Given the description of an element on the screen output the (x, y) to click on. 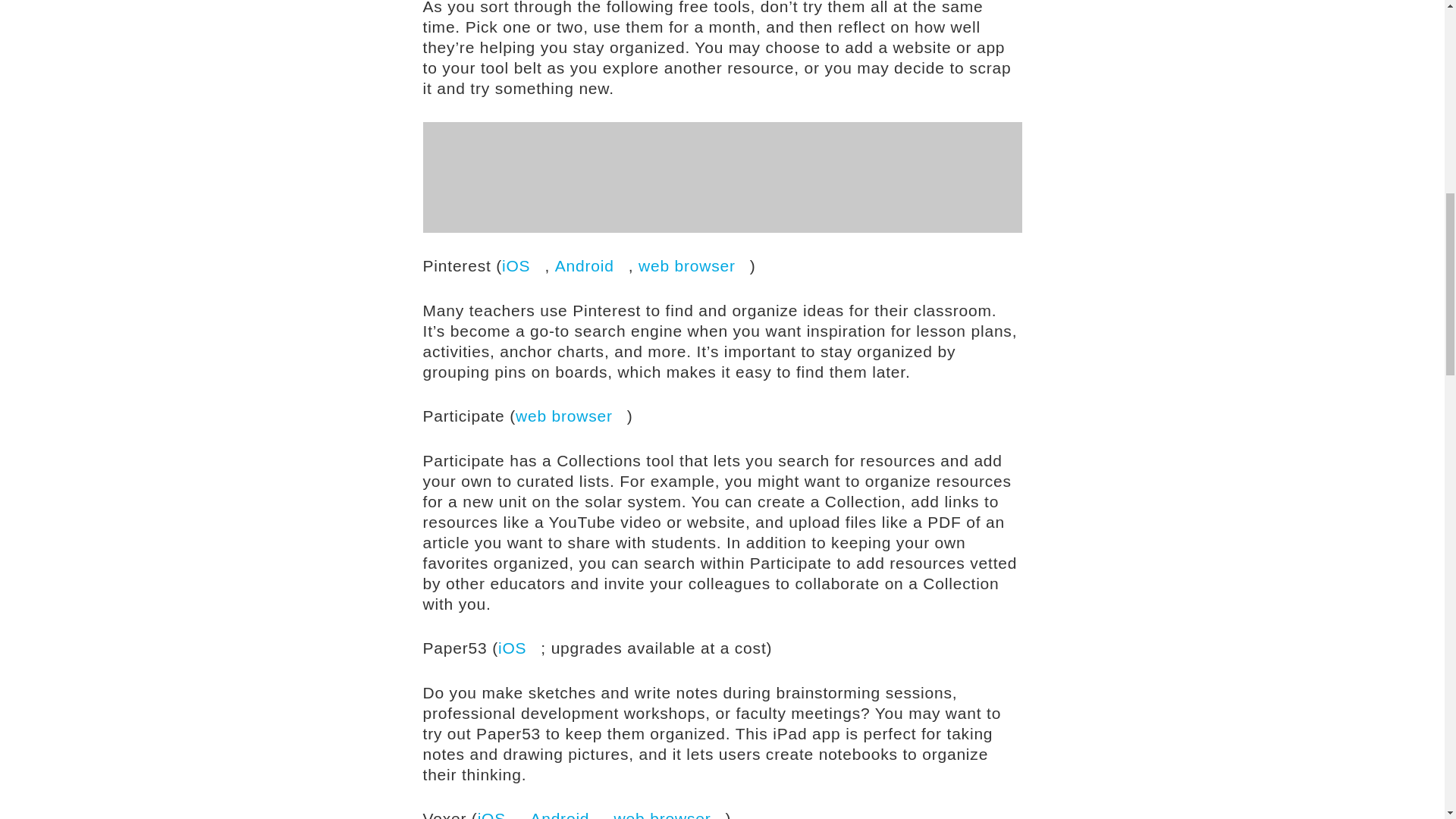
Android (566, 814)
web browser (694, 265)
iOS (498, 814)
iOS (523, 265)
web browser (571, 416)
iOS (518, 647)
Android (591, 265)
web browser (669, 814)
